Given the description of an element on the screen output the (x, y) to click on. 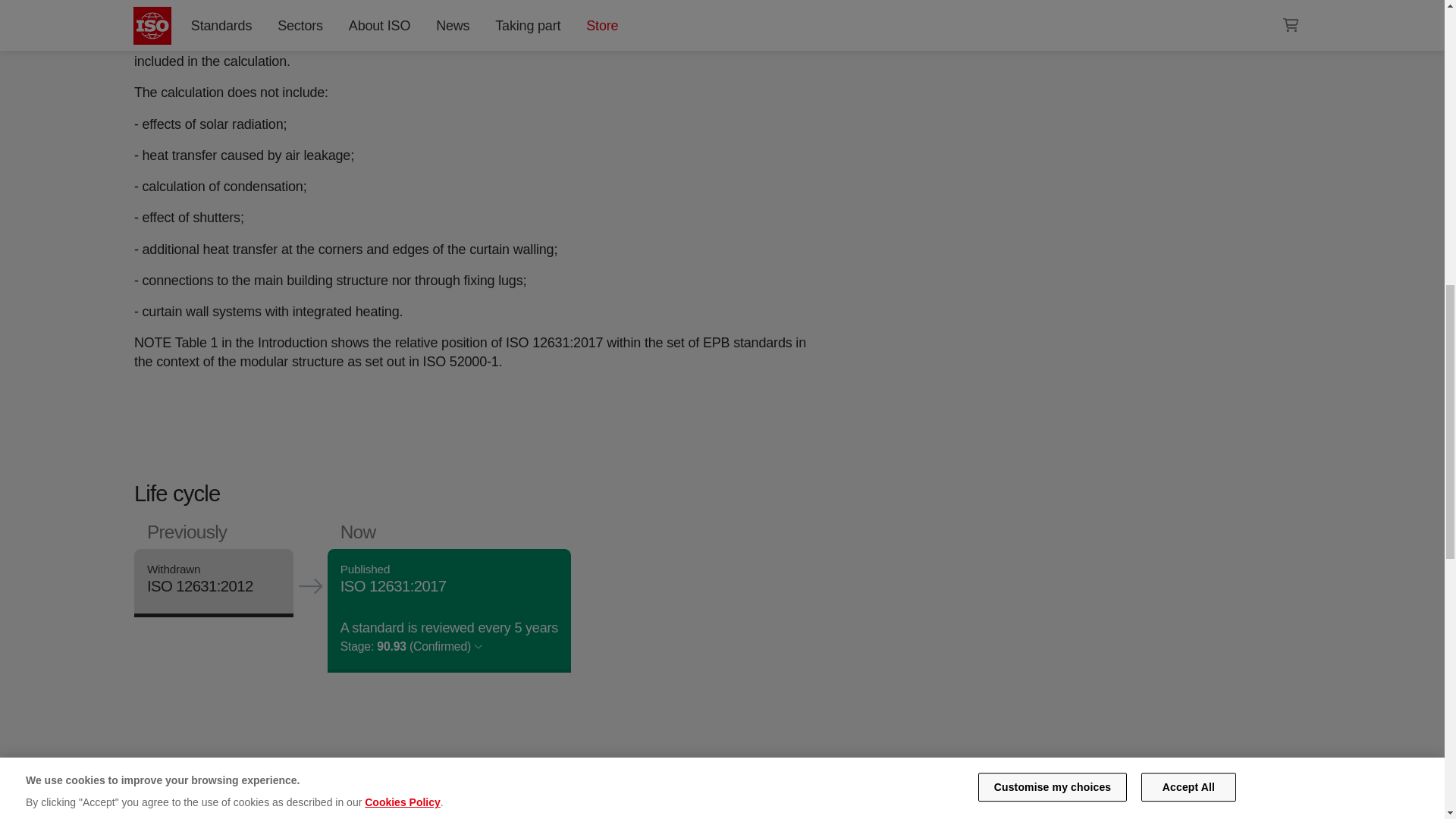
RSS (956, 6)
ISO 12631:2012 (199, 586)
